Given the description of an element on the screen output the (x, y) to click on. 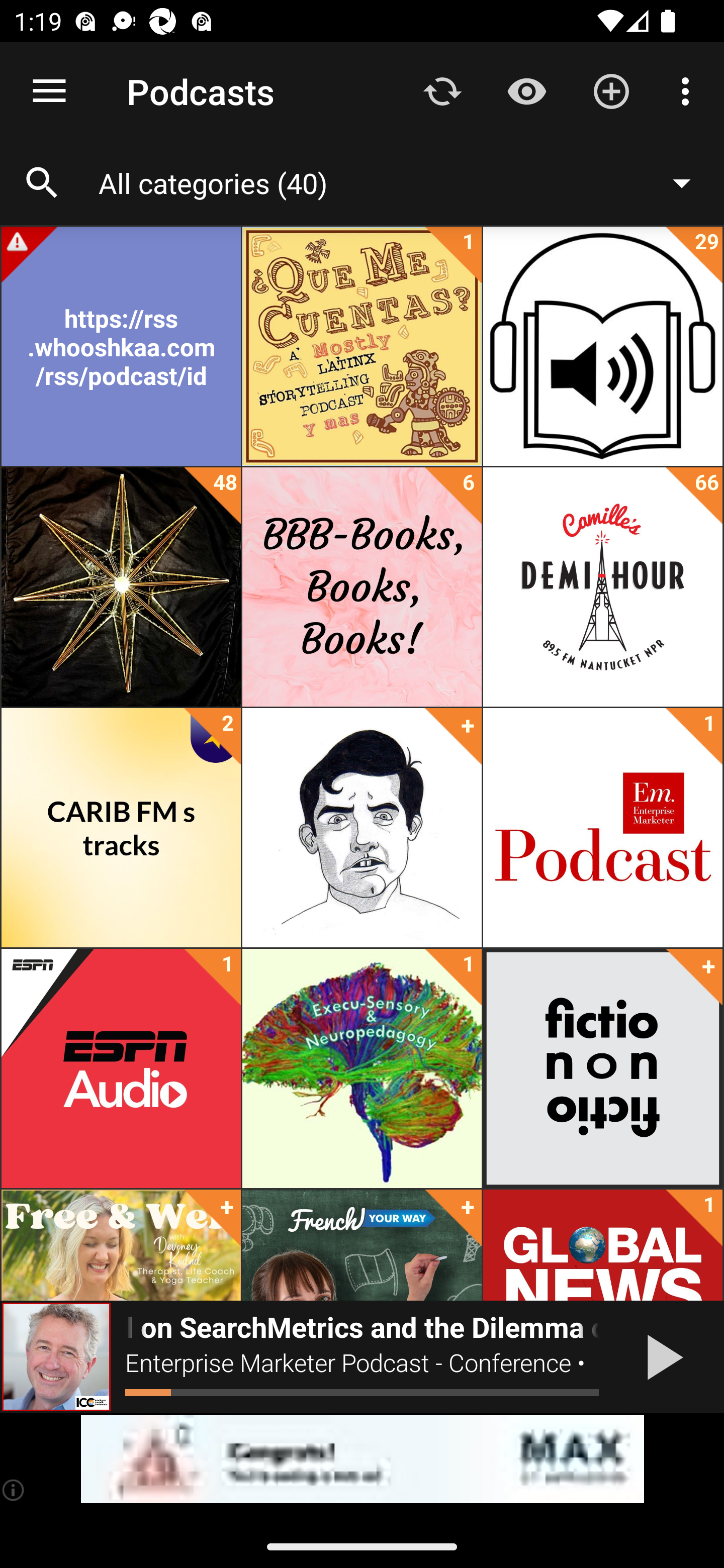
Open navigation sidebar (49, 91)
Update (442, 90)
Show / Hide played content (526, 90)
Add new Podcast (611, 90)
More options (688, 90)
Search (42, 183)
All categories (40) (404, 182)
https://rss.whooshkaa.com/rss/podcast/id/5884 (121, 346)
¿Qué Me Cuentas?: Latinx Storytelling 1 (361, 346)
Audiobooks 29 (602, 346)
Audiobooks 48 (121, 587)
BBB-Books, Books, Books! 6 (361, 587)
Camille's Demi-Hour - NANTUCKET NPR 66 (602, 587)
CARIB FM's tracks 2 (121, 827)
Cooking Issues with Dave Arnold + (361, 827)
Enterprise Marketer Podcast - Conference 1 (602, 827)
ESPN Audio 1 (121, 1068)
fiction/non/fiction + (602, 1068)
Play / Pause (660, 1356)
app-monetization (362, 1459)
(i) (14, 1489)
